Given the description of an element on the screen output the (x, y) to click on. 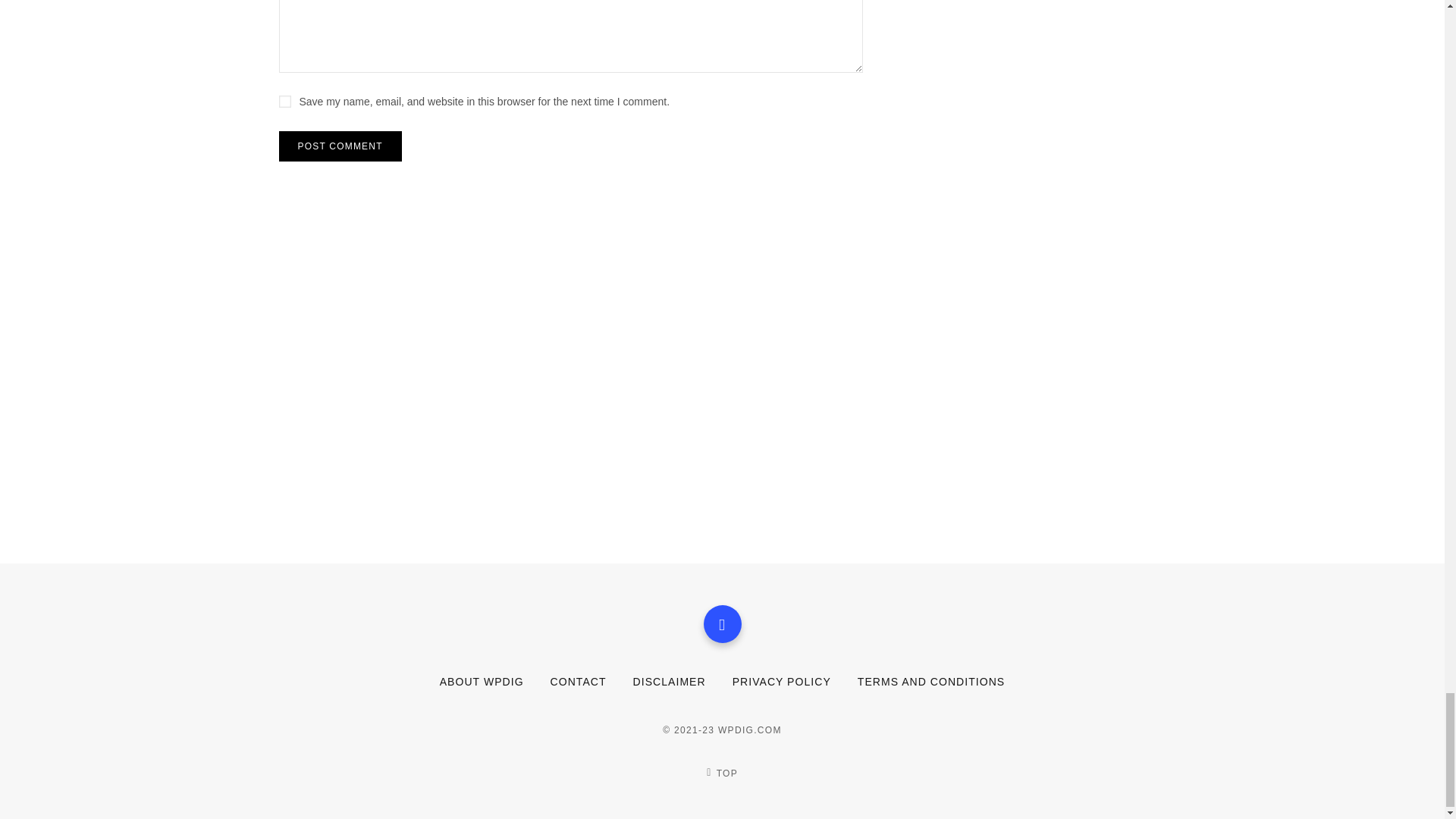
ABOUT WPDIG (481, 681)
PRIVACY POLICY (781, 681)
Post Comment (340, 146)
Post Comment (340, 146)
yes (285, 101)
CONTACT (578, 681)
TERMS AND CONDITIONS (930, 681)
DISCLAIMER (669, 681)
